Given the description of an element on the screen output the (x, y) to click on. 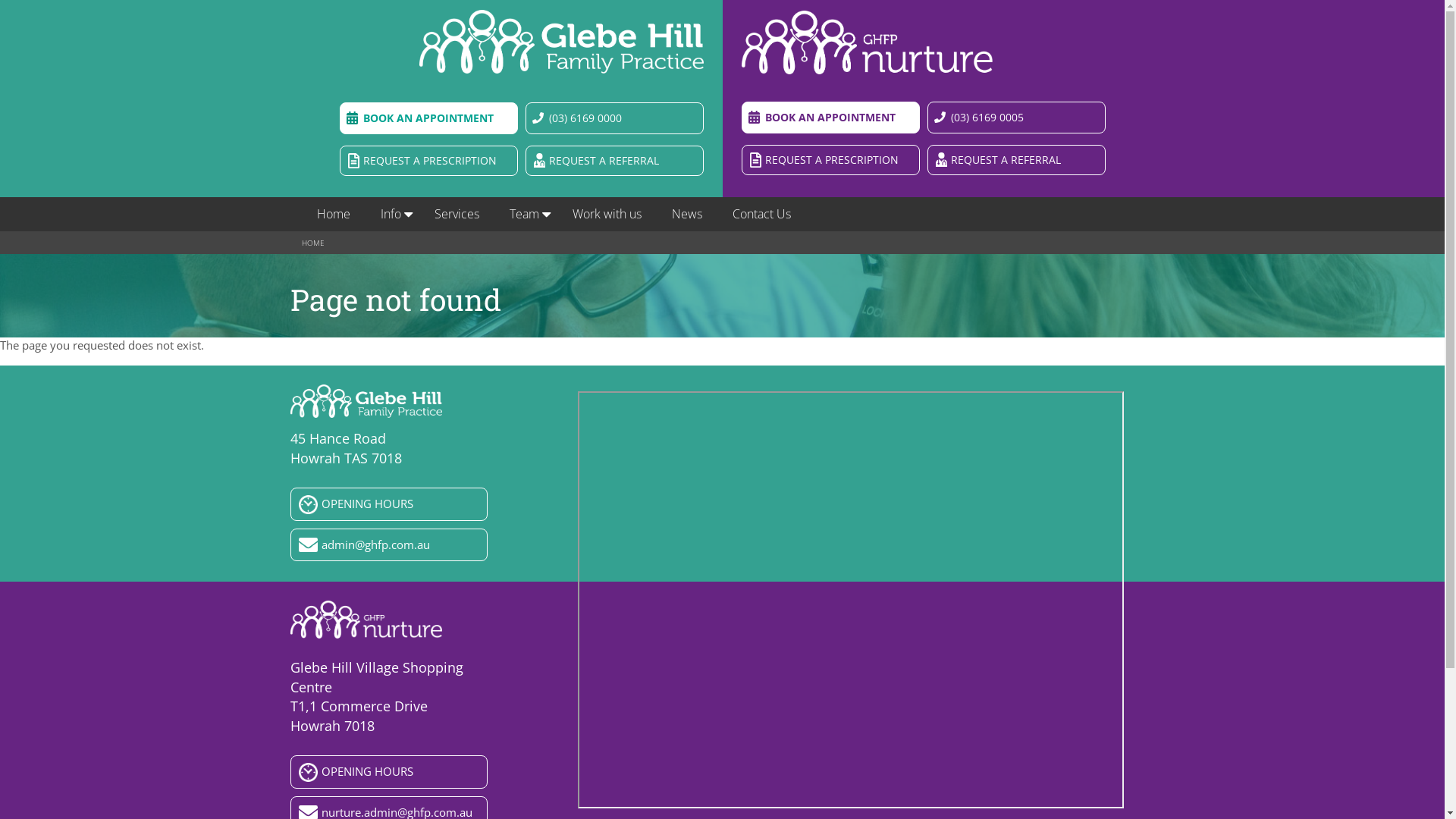
News Element type: text (686, 214)
Team Element type: text (525, 214)
Skip to main content Element type: text (53, 0)
Home Element type: text (333, 214)
Services Element type: text (455, 214)
admin@ghfp.com.au Element type: text (387, 544)
BOOK AN APPOINTMENT Element type: text (428, 118)
(03) 6169 0000 Element type: text (613, 118)
REQUEST A REFERRAL Element type: text (1015, 159)
HOME Element type: text (312, 242)
REQUEST A PRESCRIPTION Element type: text (830, 159)
(03) 6169 0005 Element type: text (1015, 117)
Info Element type: text (392, 214)
OPENING HOURS Element type: text (387, 503)
Work with us Element type: text (605, 214)
REQUEST A REFERRAL Element type: text (613, 160)
REQUEST A PRESCRIPTION Element type: text (428, 160)
Contact Us Element type: text (761, 214)
BOOK AN APPOINTMENT Element type: text (830, 117)
OPENING HOURS Element type: text (387, 771)
